Given the description of an element on the screen output the (x, y) to click on. 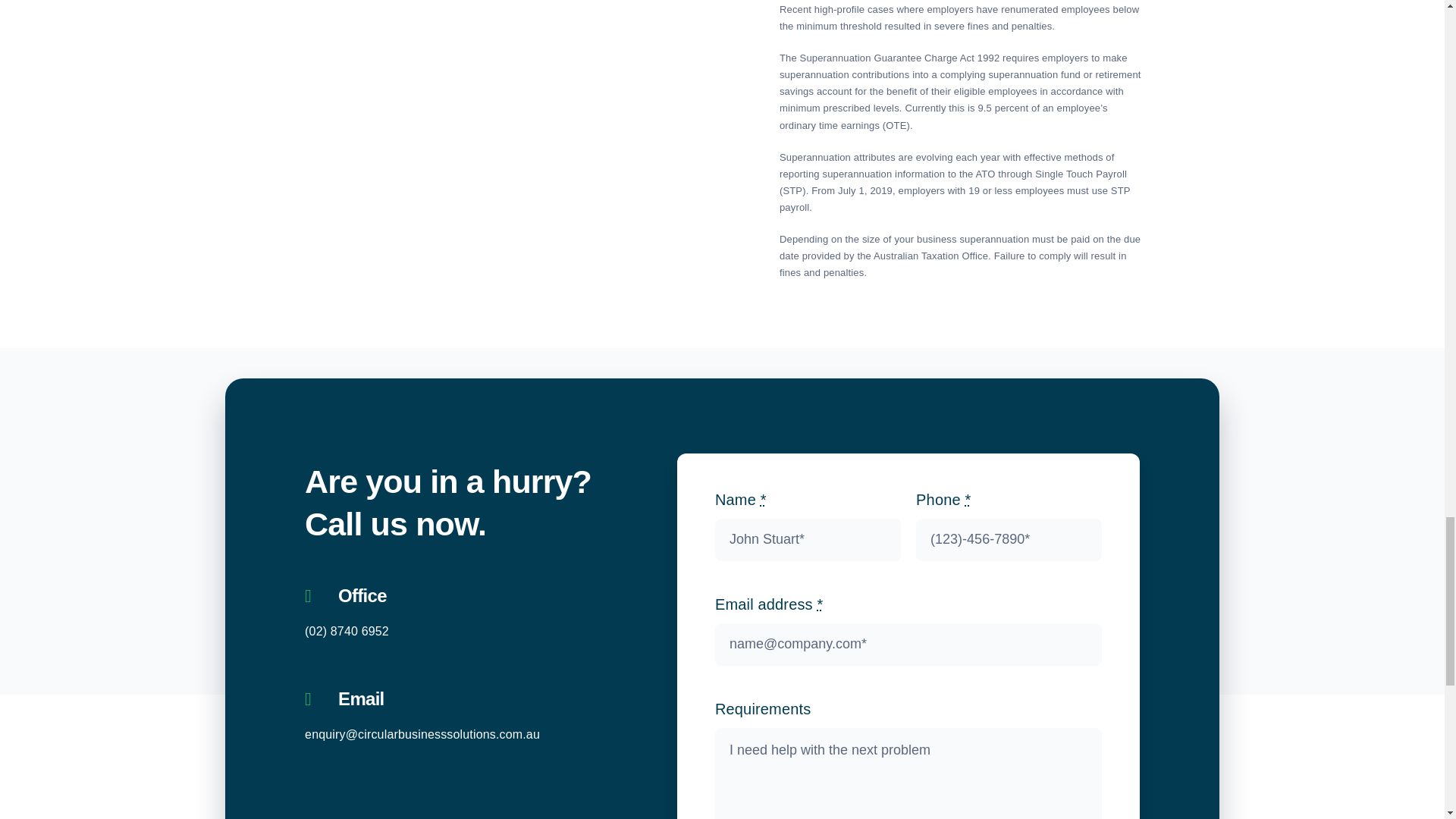
Only numbers and phone characters are accepted. (1008, 539)
